Given the description of an element on the screen output the (x, y) to click on. 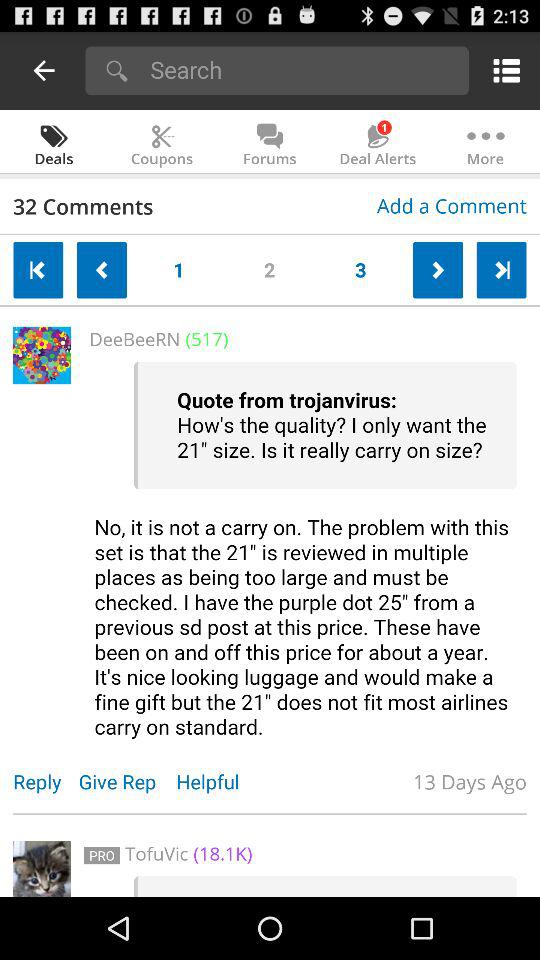
go forward (437, 270)
